Given the description of an element on the screen output the (x, y) to click on. 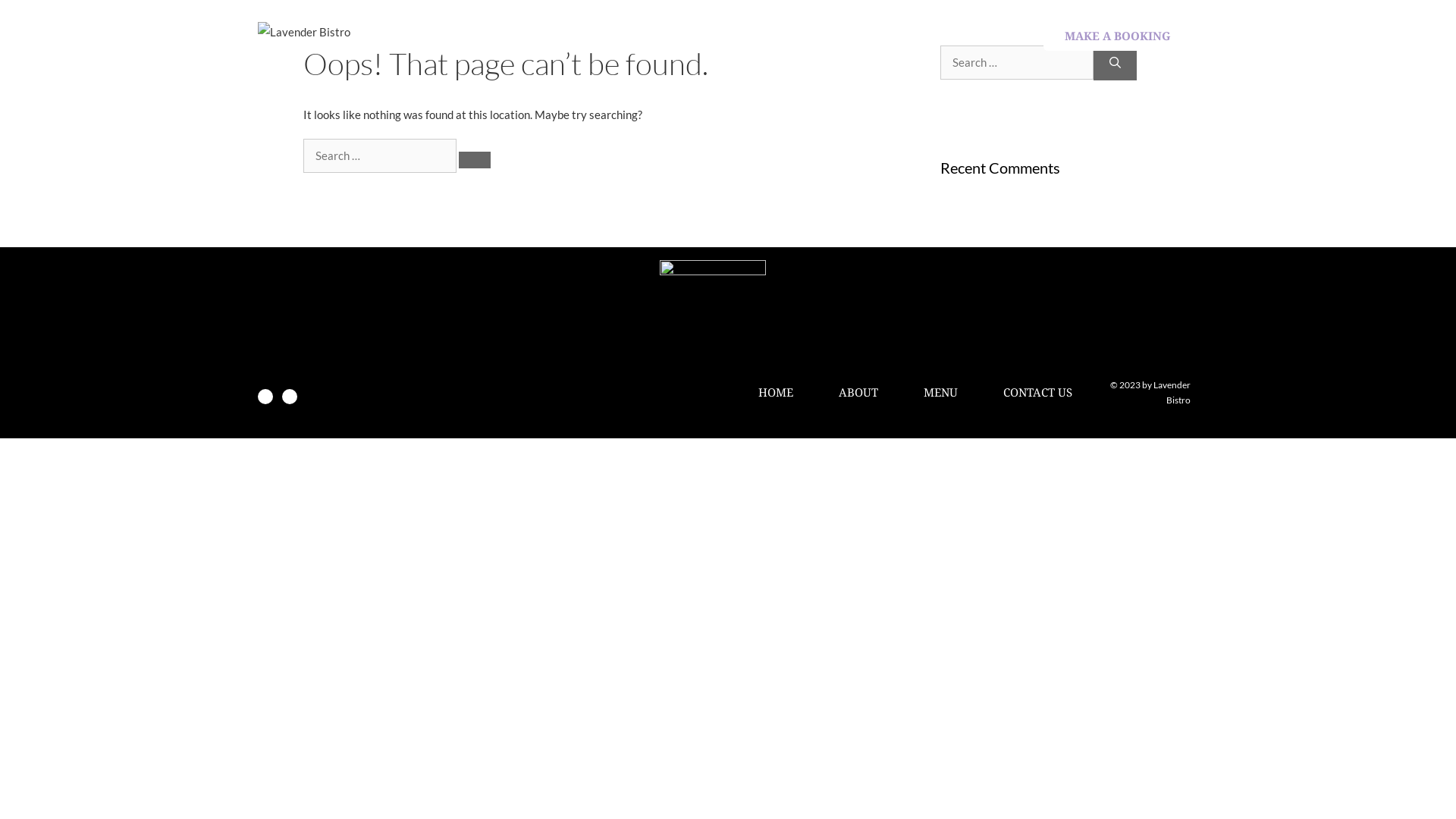
Lavender Bistro Element type: hover (303, 30)
HOME Element type: text (676, 35)
HOME Element type: text (775, 391)
CONTACT US Element type: text (972, 35)
CONTACT US Element type: text (1037, 391)
ABOUT Element type: text (770, 35)
Lavender Bistro Element type: hover (303, 31)
MAKE A BOOKING Element type: text (1117, 35)
Search for: Element type: hover (1016, 62)
ABOUT Element type: text (858, 391)
MENU Element type: text (863, 35)
Search for: Element type: hover (379, 155)
MENU Element type: text (940, 391)
